Given the description of an element on the screen output the (x, y) to click on. 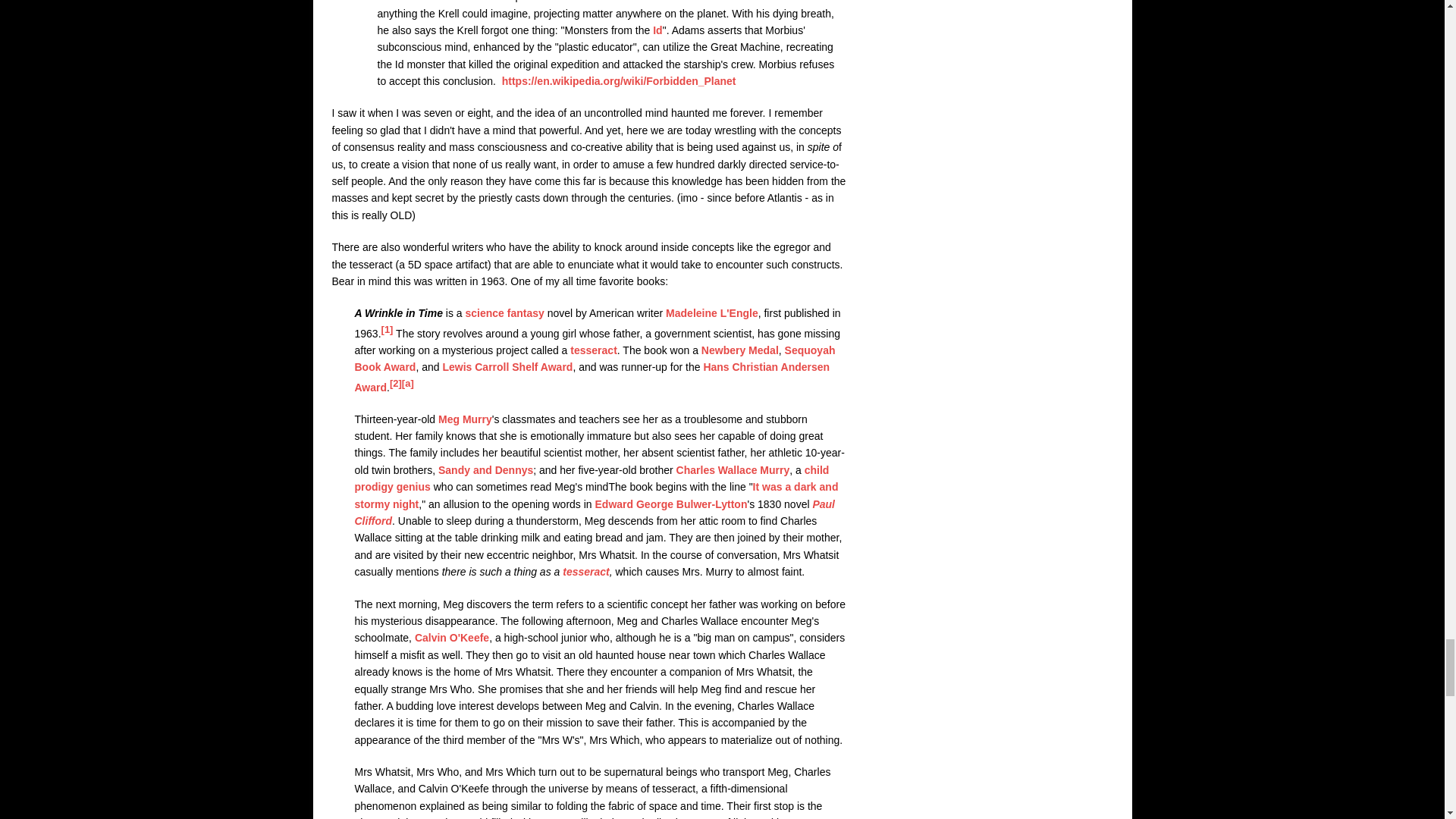
Charles Wallace Murry (733, 469)
Science fantasy (504, 313)
Meg Murry (465, 419)
Hans Christian Andersen Award (592, 377)
Lewis Carroll Shelf Award (507, 367)
Sequoyah Book Award (595, 358)
Tesseract (593, 349)
Madeleine L'Engle (711, 313)
Sandy and Dennys Murry (485, 469)
Newbery Medal (739, 349)
